Given the description of an element on the screen output the (x, y) to click on. 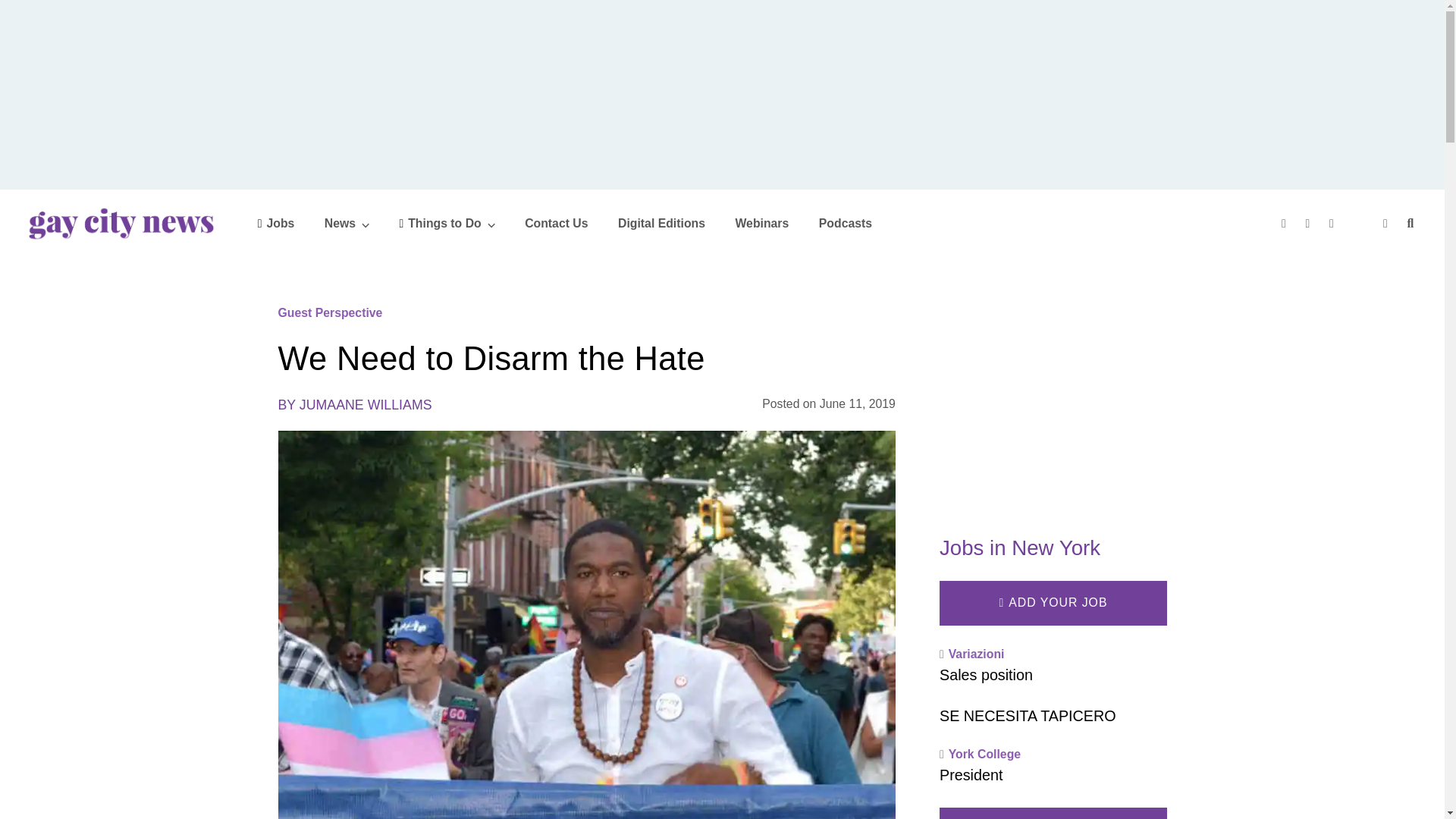
Contact Us (556, 223)
Things to Do (446, 223)
Jobs (276, 223)
Podcasts (845, 223)
Webinars (762, 223)
Digital Editions (660, 223)
News (346, 223)
